Given the description of an element on the screen output the (x, y) to click on. 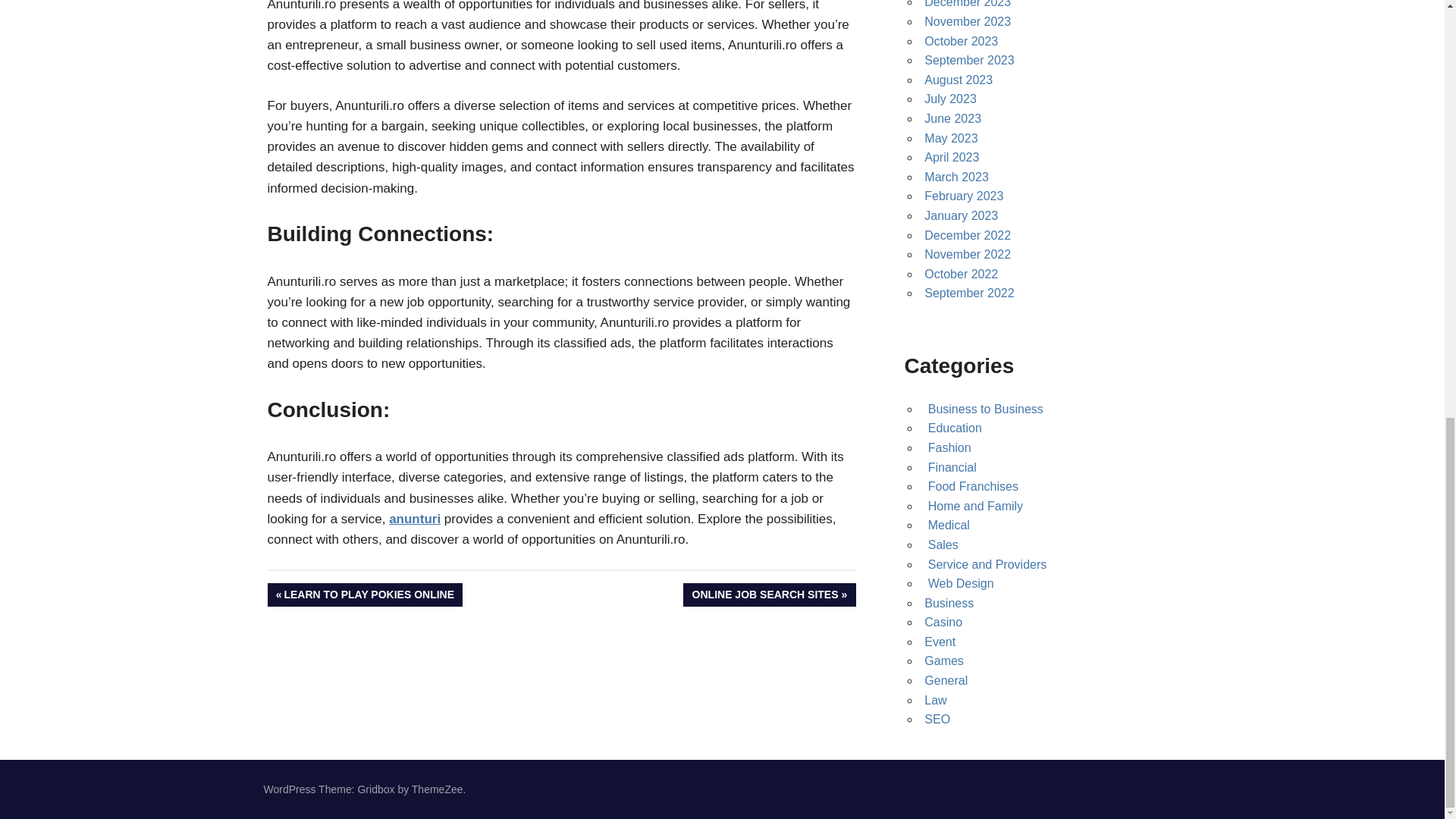
August 2023 (958, 79)
anunturi (414, 518)
October 2023 (960, 41)
July 2023 (950, 98)
May 2023 (950, 137)
December 2023 (967, 4)
June 2023 (952, 118)
September 2023 (968, 60)
November 2023 (967, 21)
April 2023 (951, 156)
